Given the description of an element on the screen output the (x, y) to click on. 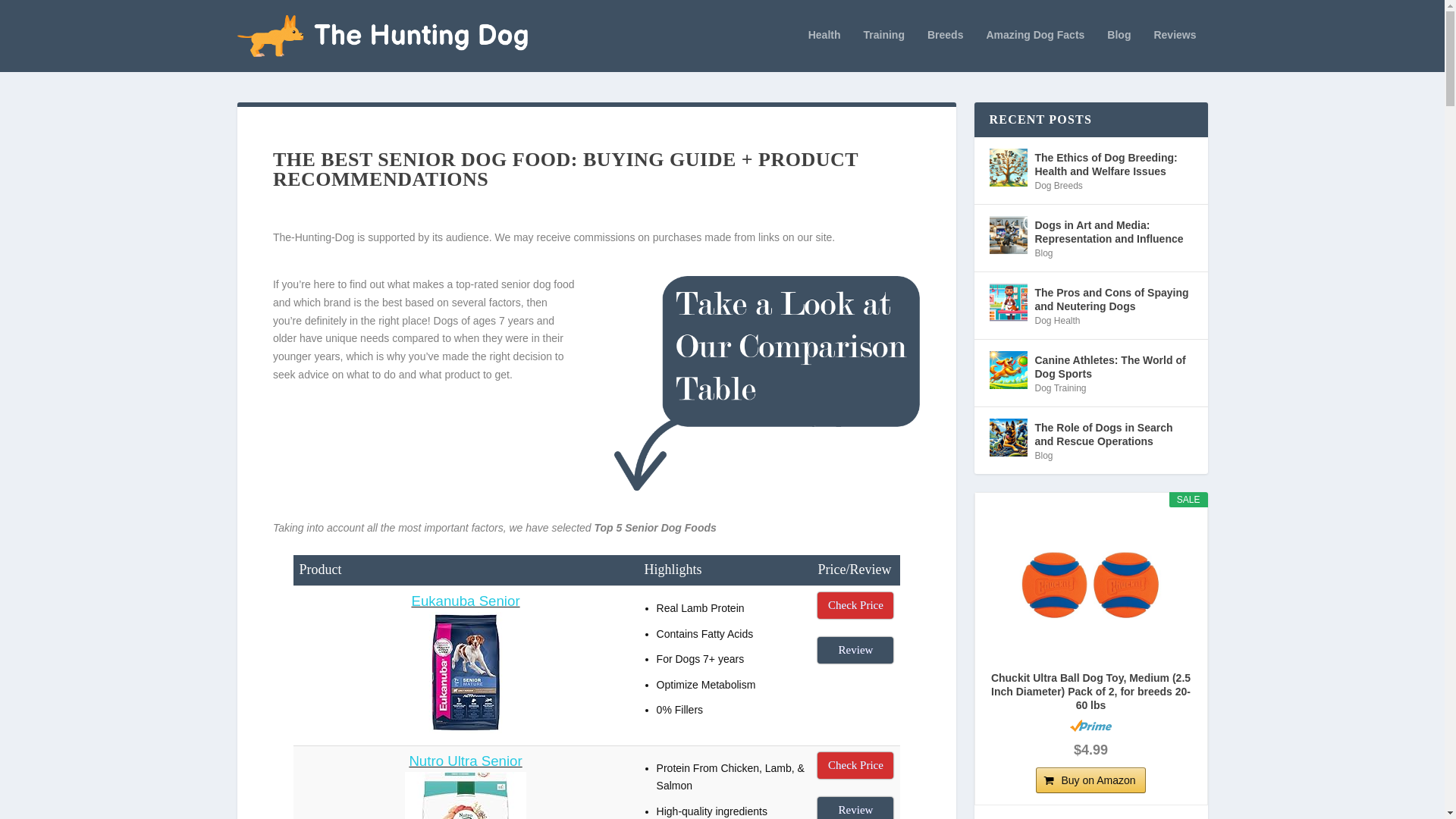
Training (883, 50)
Nutro Ultra Senior (465, 760)
Eukanuba Senior (464, 600)
Review (854, 650)
Review (854, 807)
Amazing Dog Facts (1034, 50)
Check Price (854, 605)
Reviews (1174, 50)
Check Price (854, 765)
Eukanuba Senior Lamb 1st Ingredient Dry Dog Food, 30 lb (464, 729)
